Given the description of an element on the screen output the (x, y) to click on. 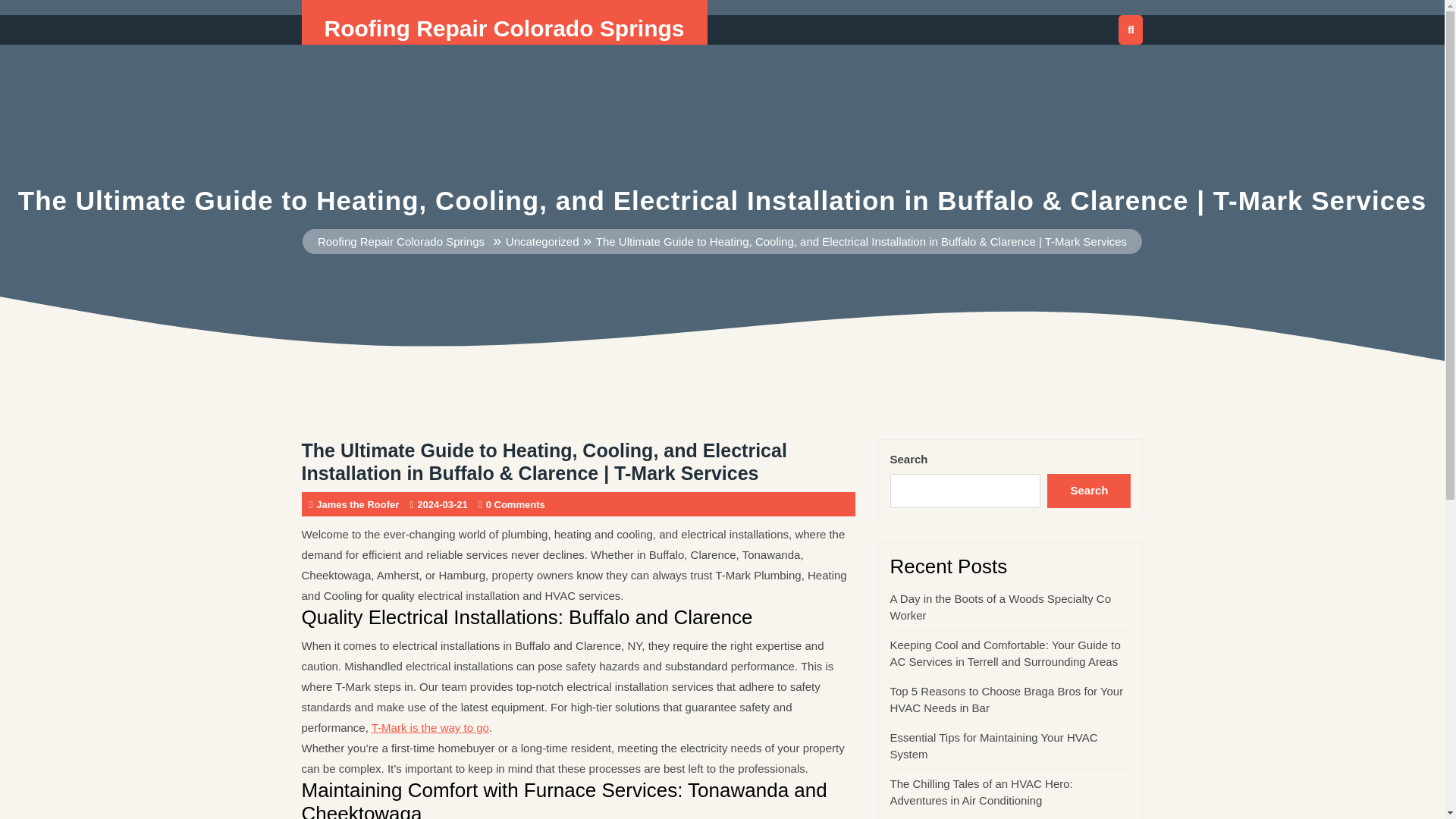
Roofing Repair Colorado Springs (504, 27)
A Day in the Boots of a Woods Specialty Co Worker (1000, 607)
Search (1088, 491)
Roofing Repair Colorado Springs (400, 241)
Essential Tips for Maintaining Your HVAC System (993, 746)
Uncategorized (542, 241)
T-Mark is the way to go (430, 727)
